Given the description of an element on the screen output the (x, y) to click on. 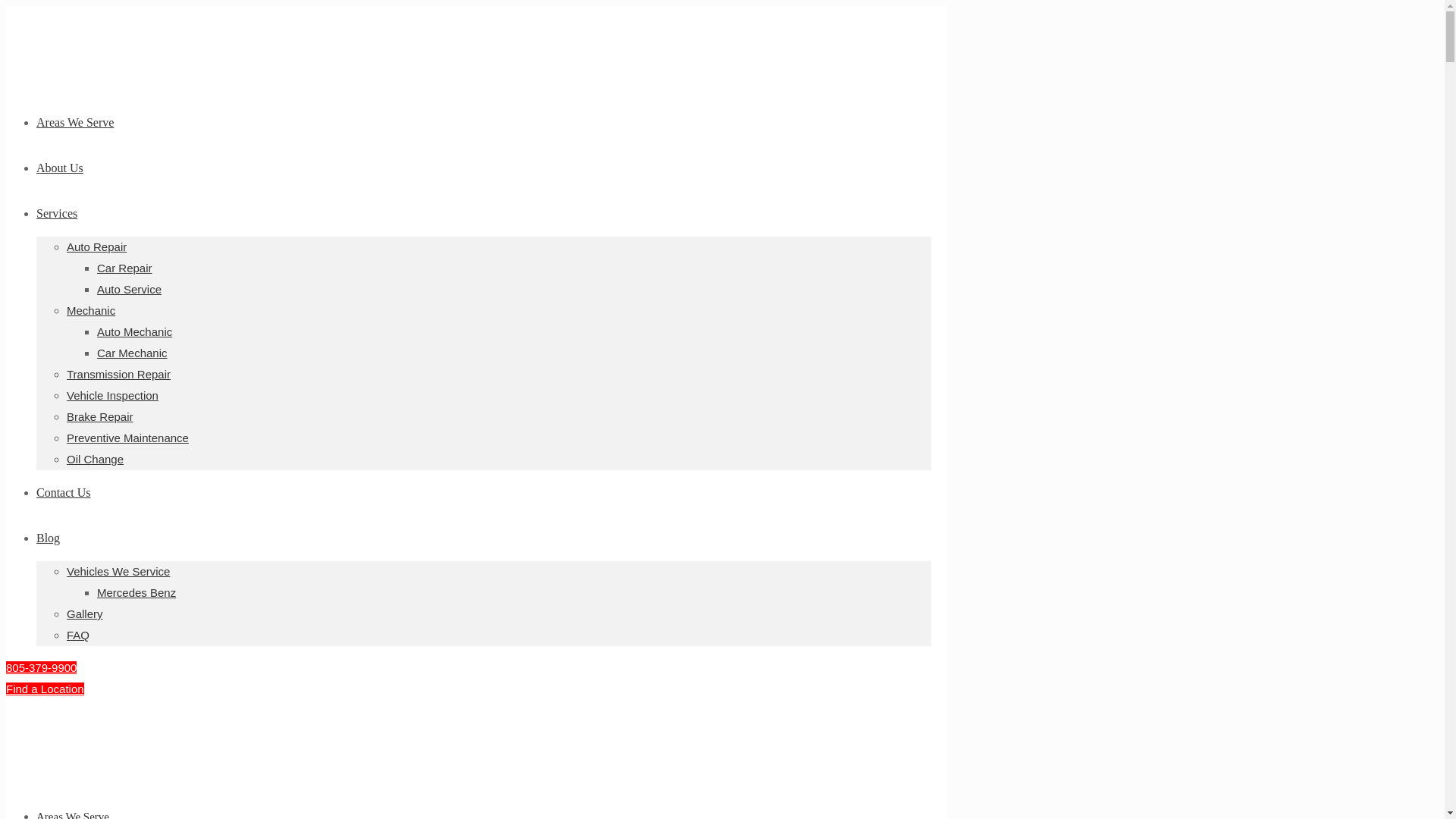
Mercedes Benz (136, 592)
Areas We Serve (72, 814)
FAQ (77, 634)
Services (56, 213)
Car Mechanic (132, 352)
Auto Service (129, 288)
Mechanic (90, 309)
Auto Precision Repair (43, 771)
Oil Change (94, 459)
Transmission Repair (118, 373)
